Given the description of an element on the screen output the (x, y) to click on. 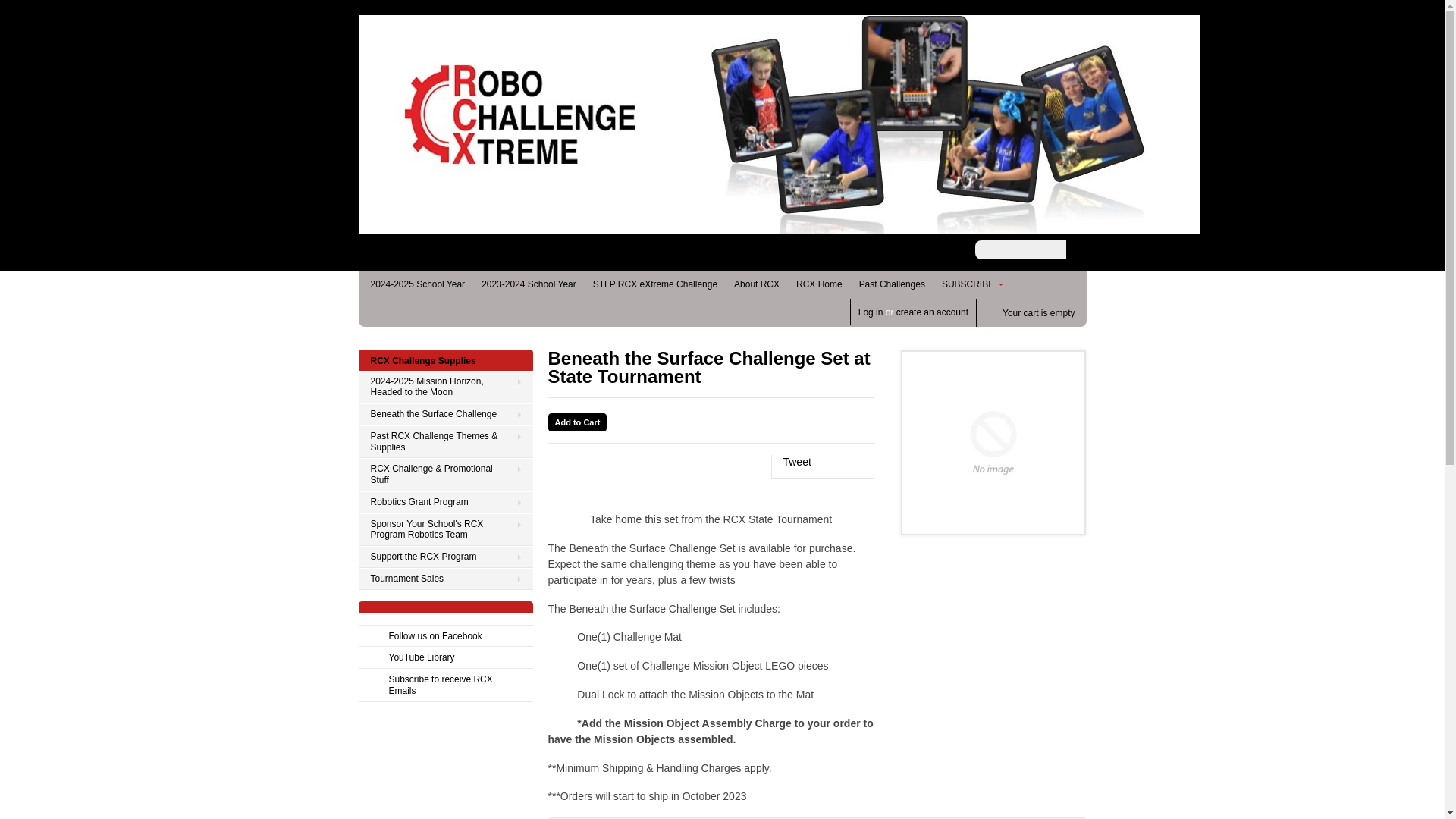
SUBSCRIBE (973, 284)
Home (778, 226)
Robotics Grant Program (445, 502)
2023-2024 School Year (528, 284)
2024-2025 Mission Horizon, Headed to the Moon (445, 387)
STLP RCX eXtreme Challenge (655, 284)
Follow us on Facebook (445, 636)
Support the RCX Program (445, 557)
Search (1075, 249)
Your cart is empty (1031, 313)
Search (1075, 249)
Add to Cart (577, 421)
Sponsor Your School's RCX Program Robotics Team (445, 530)
Search (1075, 249)
Support the RCX Program (445, 557)
